Given the description of an element on the screen output the (x, y) to click on. 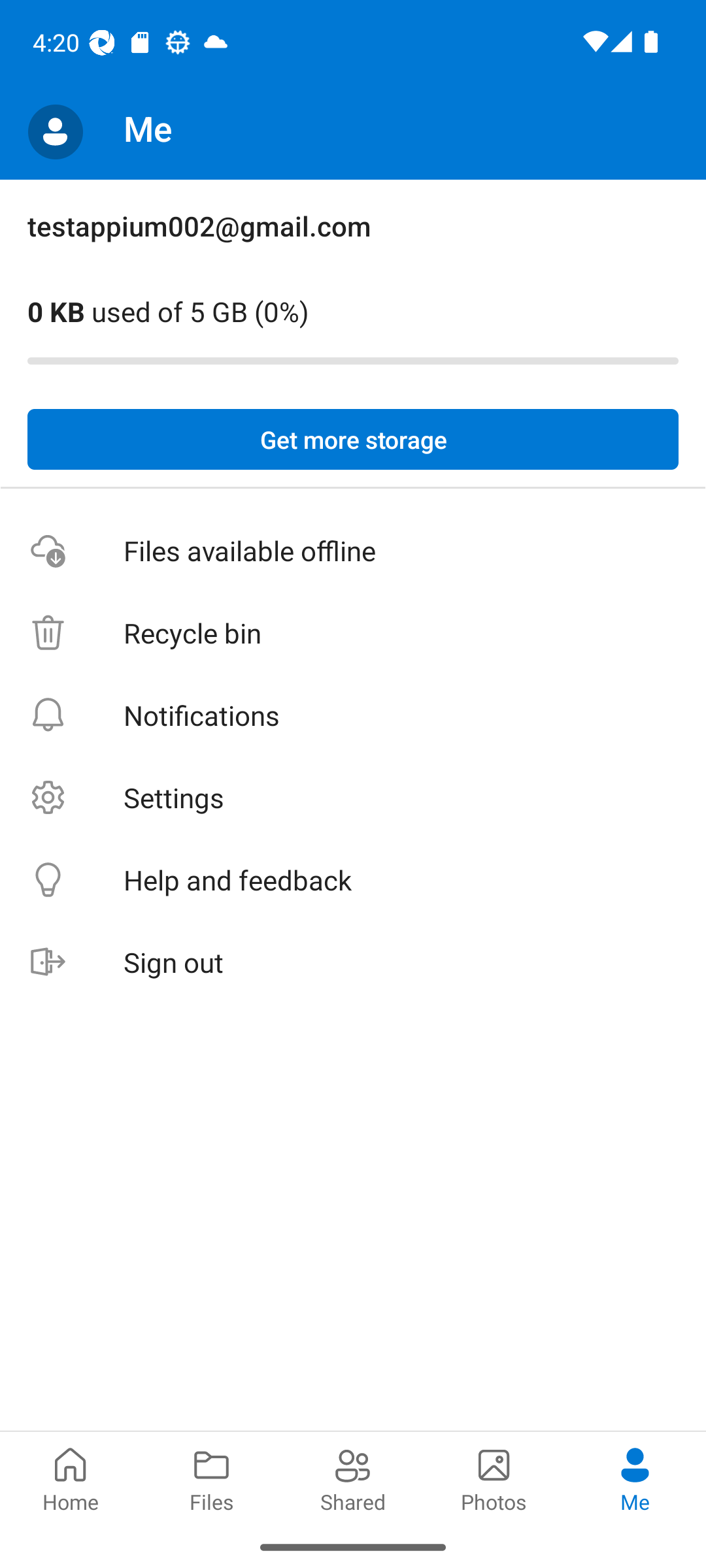
Account switcher (55, 131)
Get more storage (352, 439)
Files available offline (353, 550)
Recycle bin (353, 633)
Notifications (353, 714)
Settings (353, 796)
Help and feedback (353, 879)
Sign out (353, 962)
Home pivot Home (70, 1478)
Files pivot Files (211, 1478)
Shared pivot Shared (352, 1478)
Photos pivot Photos (493, 1478)
